Given the description of an element on the screen output the (x, y) to click on. 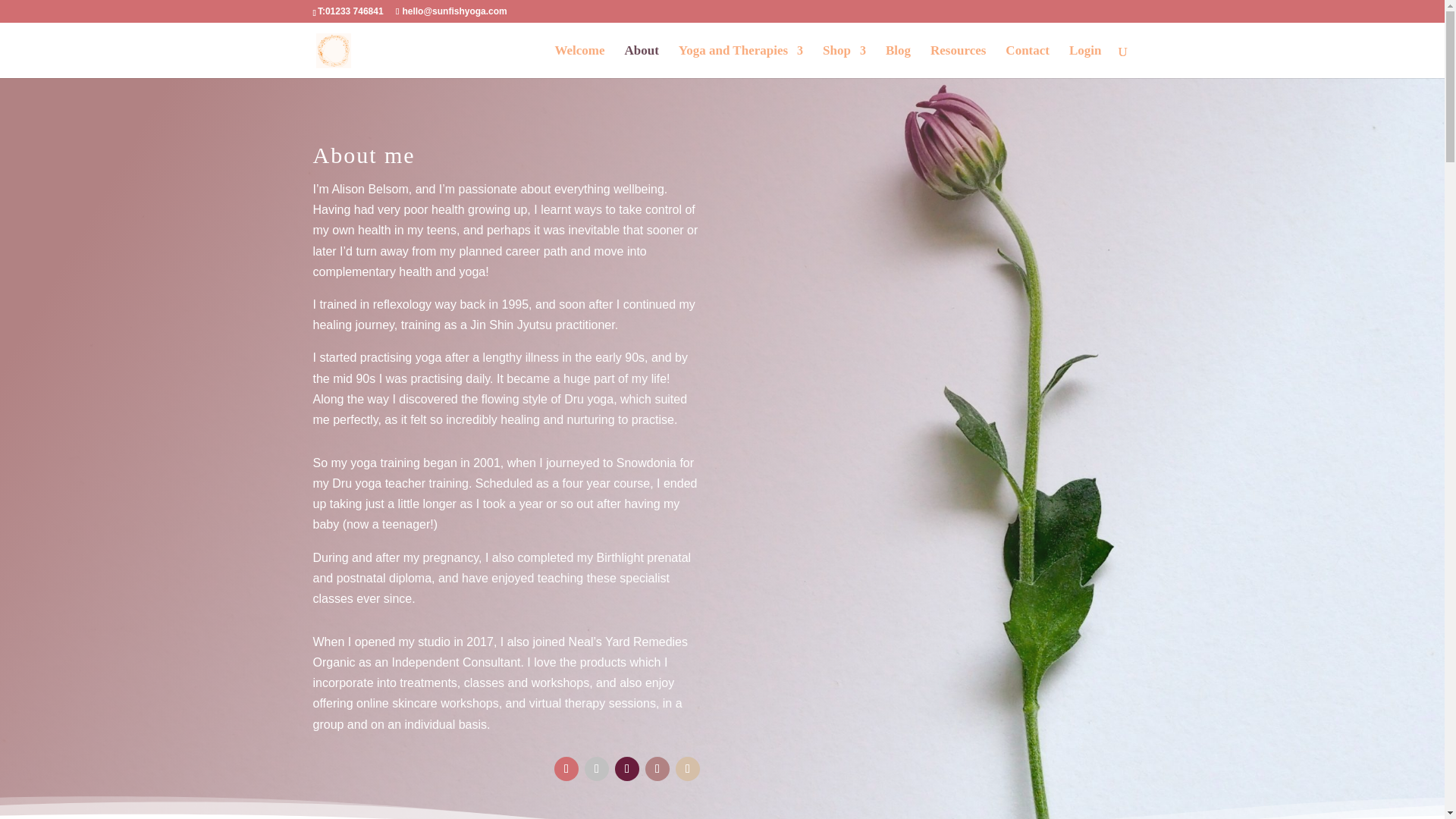
Welcome (579, 61)
Follow on Facebook (566, 768)
Shop (844, 61)
Login (1085, 61)
Follow on LinkedIn (687, 768)
Resources (957, 61)
Follow on X (626, 768)
Contact (1027, 61)
About (641, 61)
Yoga and Therapies (740, 61)
